Given the description of an element on the screen output the (x, y) to click on. 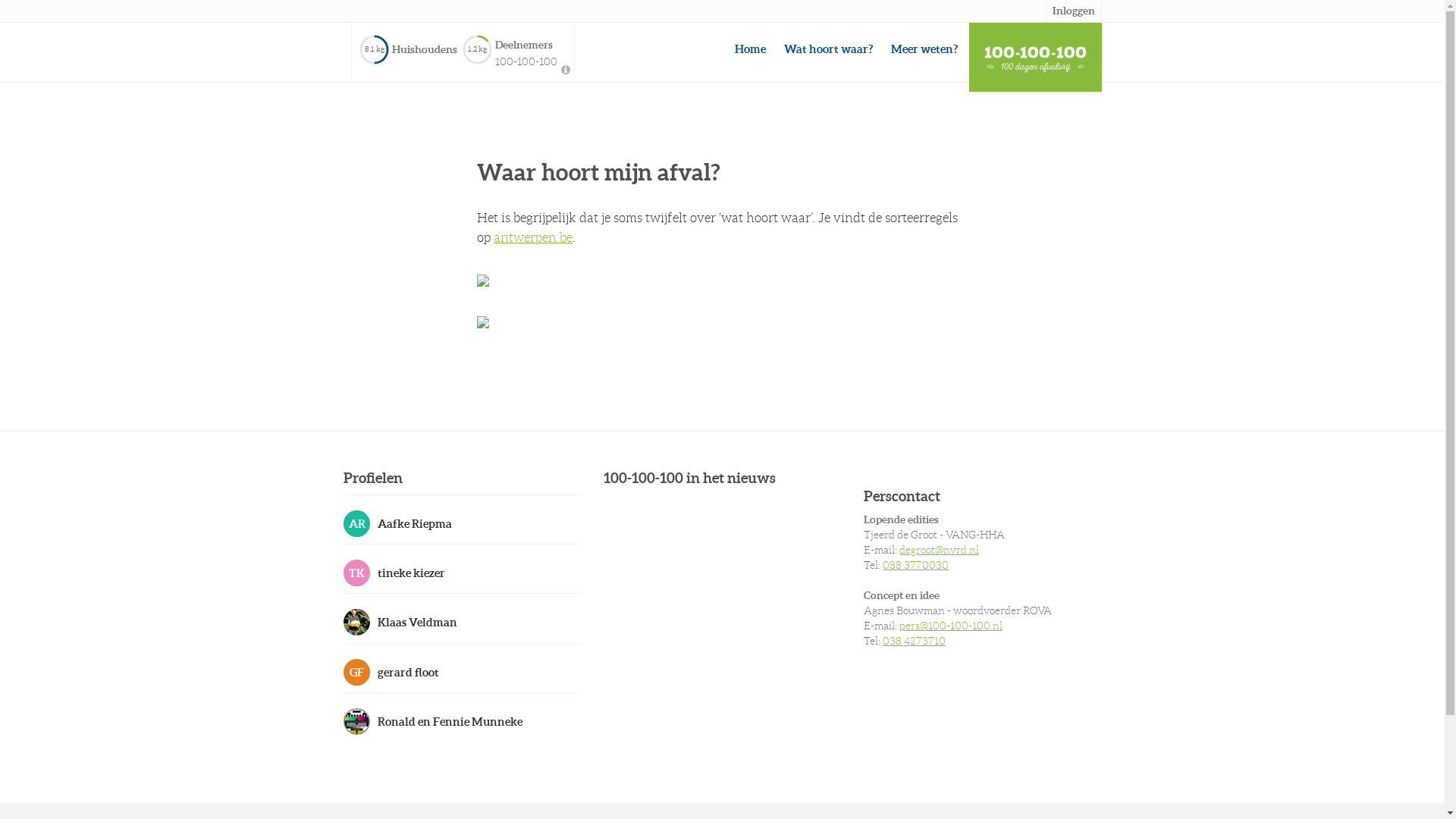
Aafke Riepma Element type: text (461, 523)
088 3770030 Element type: text (915, 564)
degroot@nvrd.nl Element type: text (939, 549)
Klaas Veldman Element type: text (461, 621)
Inloggen Element type: text (1072, 10)
038 4273710 Element type: text (913, 640)
Wat hoort waar? Element type: text (828, 48)
Ronald en Fennie Munneke Element type: text (461, 721)
antwerpen.be Element type: text (532, 237)
Meer weten? Element type: text (923, 48)
pers@100-100-100.nl Element type: text (950, 625)
gerard floot Element type: text (461, 671)
tineke kiezer Element type: text (461, 572)
Home Element type: text (749, 48)
Afvalmeter: Gemiddelde storting per week Element type: hover (565, 70)
